Given the description of an element on the screen output the (x, y) to click on. 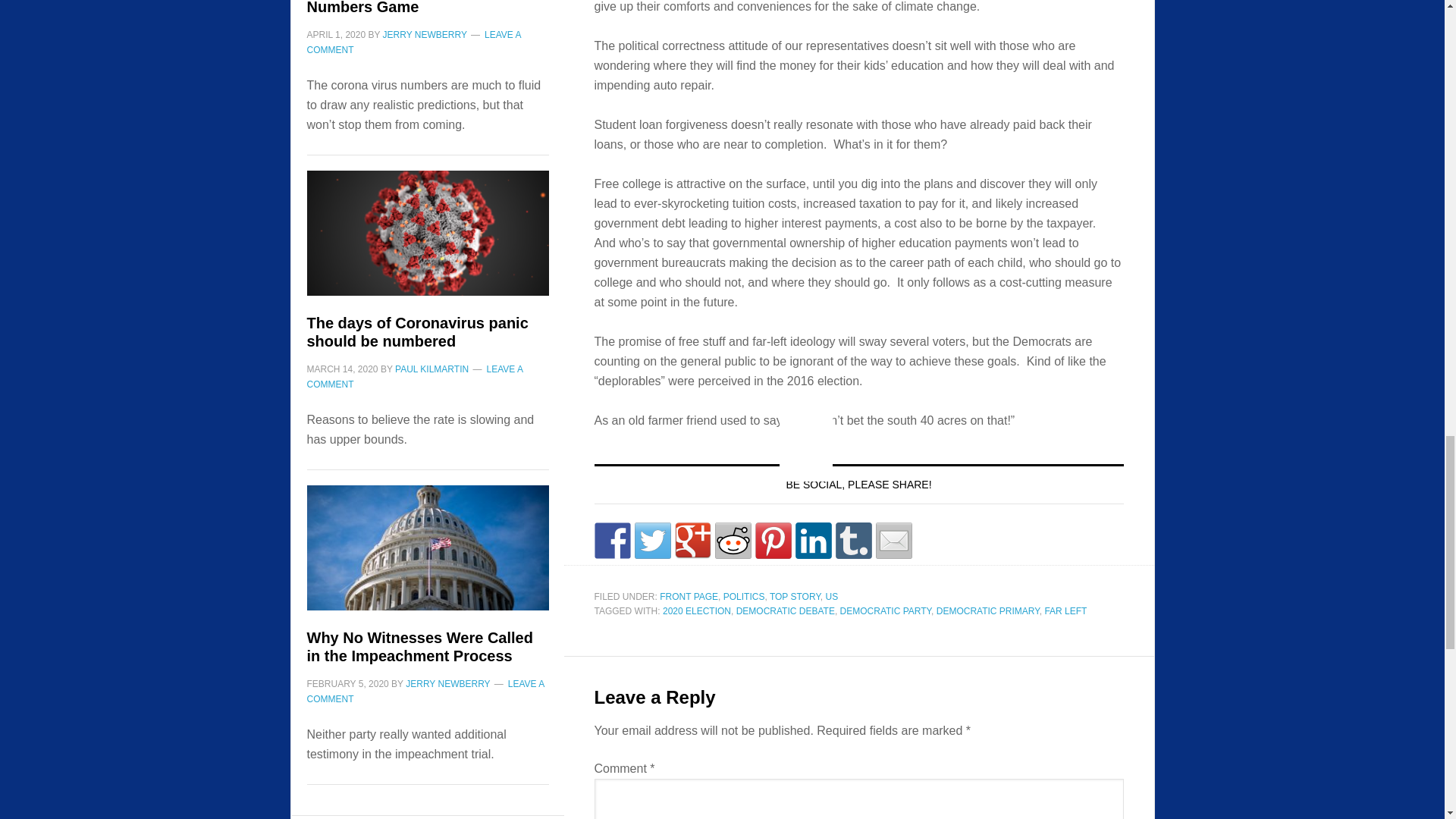
Share on Linkedin (812, 540)
Share by email (893, 540)
FRONT PAGE (688, 596)
Share on Twitter (651, 540)
2020 ELECTION (696, 611)
Share on Reddit (732, 540)
DEMOCRATIC PARTY (885, 611)
Share on Facebook (612, 540)
Share on tumblr (853, 540)
DEMOCRATIC DEBATE (785, 611)
TOP STORY (795, 596)
POLITICS (744, 596)
US (831, 596)
FAR LEFT (1064, 611)
DEMOCRATIC PRIMARY (987, 611)
